Given the description of an element on the screen output the (x, y) to click on. 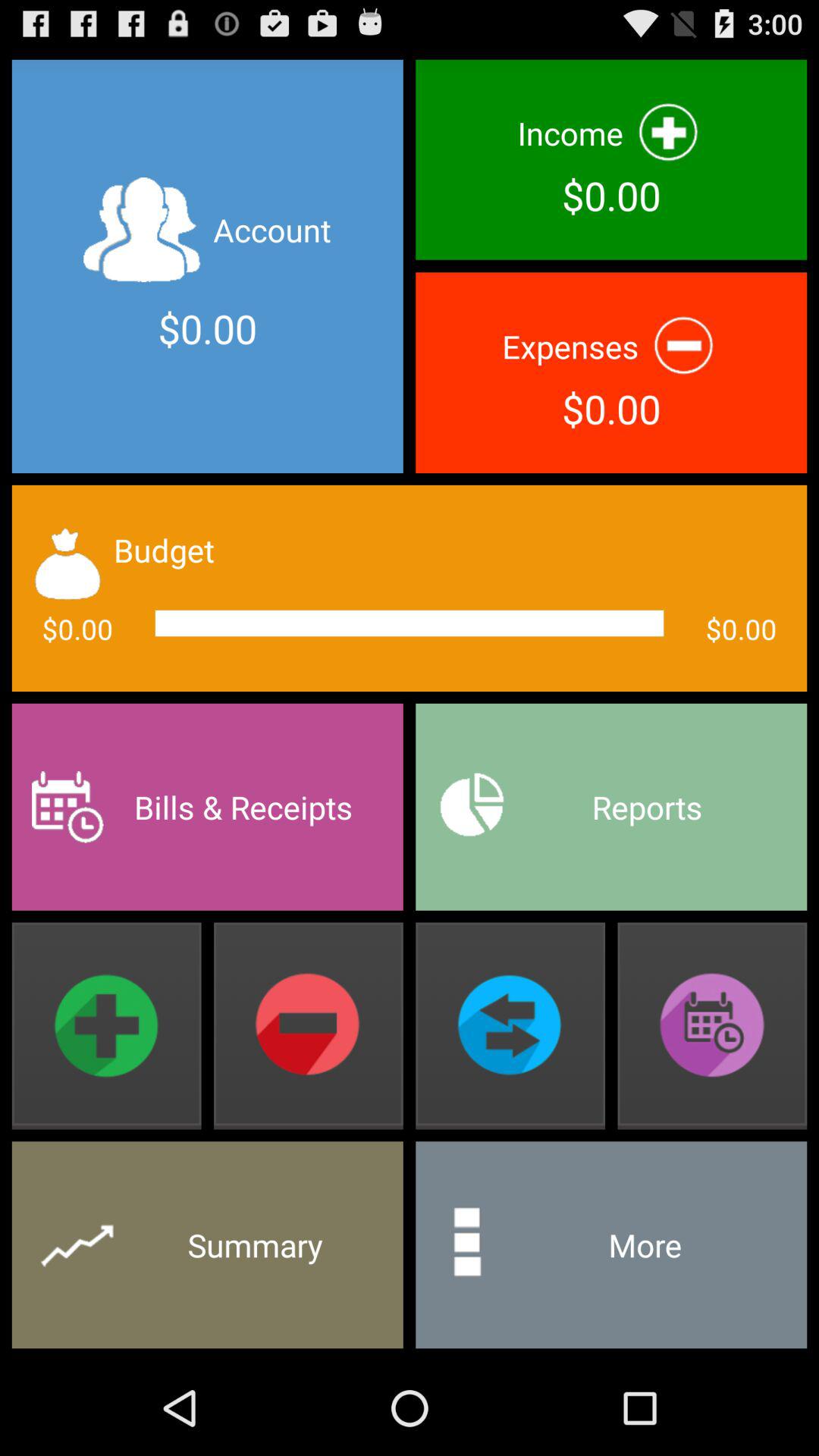
jump to reports app (611, 806)
